Given the description of an element on the screen output the (x, y) to click on. 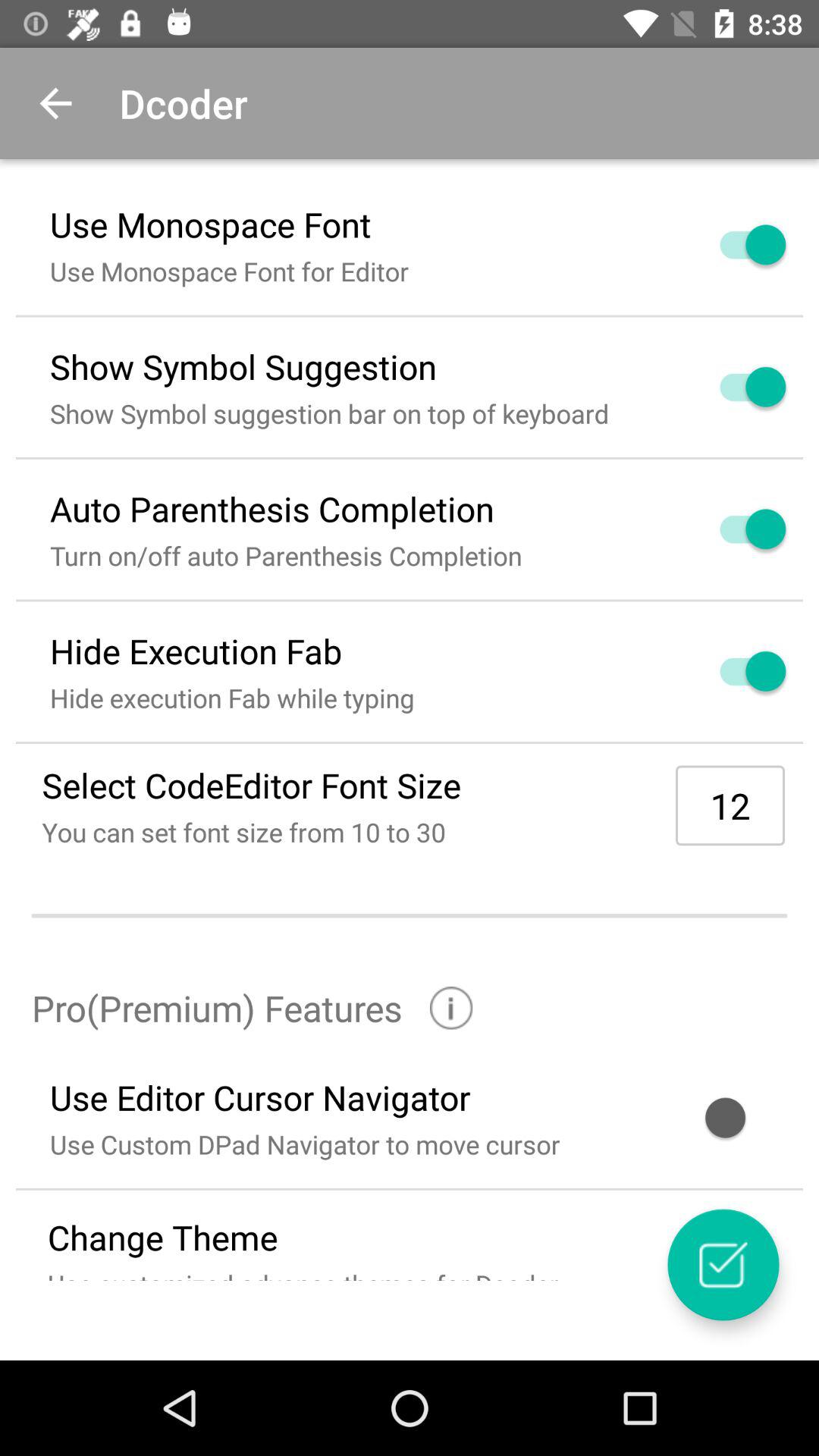
auto parenthesis completion is on (734, 529)
